Given the description of an element on the screen output the (x, y) to click on. 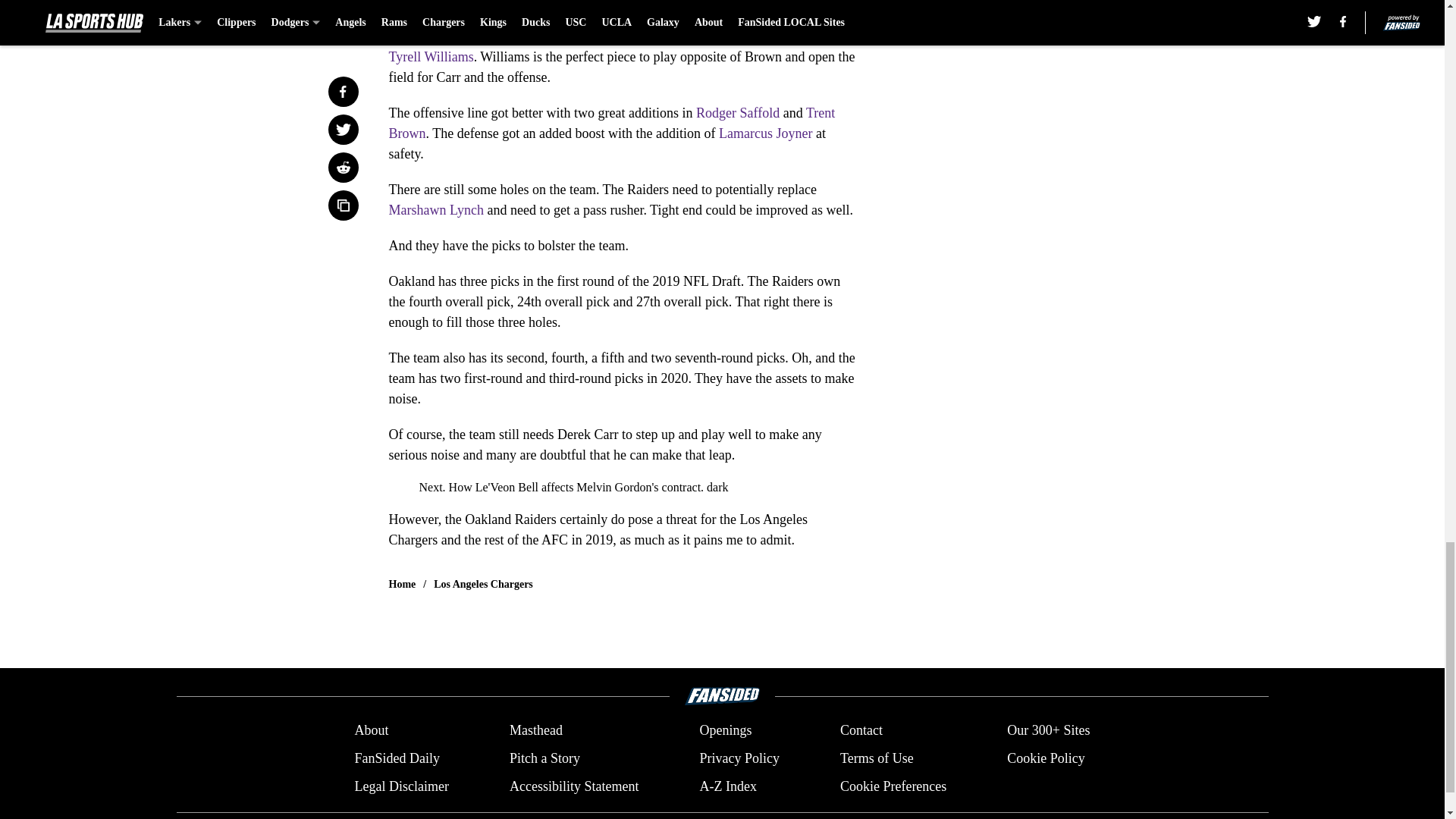
Lamarcus Joyner (765, 133)
Tyrell Williams (430, 56)
Trent Brown (611, 122)
Rodger Saffold (736, 112)
